Given the description of an element on the screen output the (x, y) to click on. 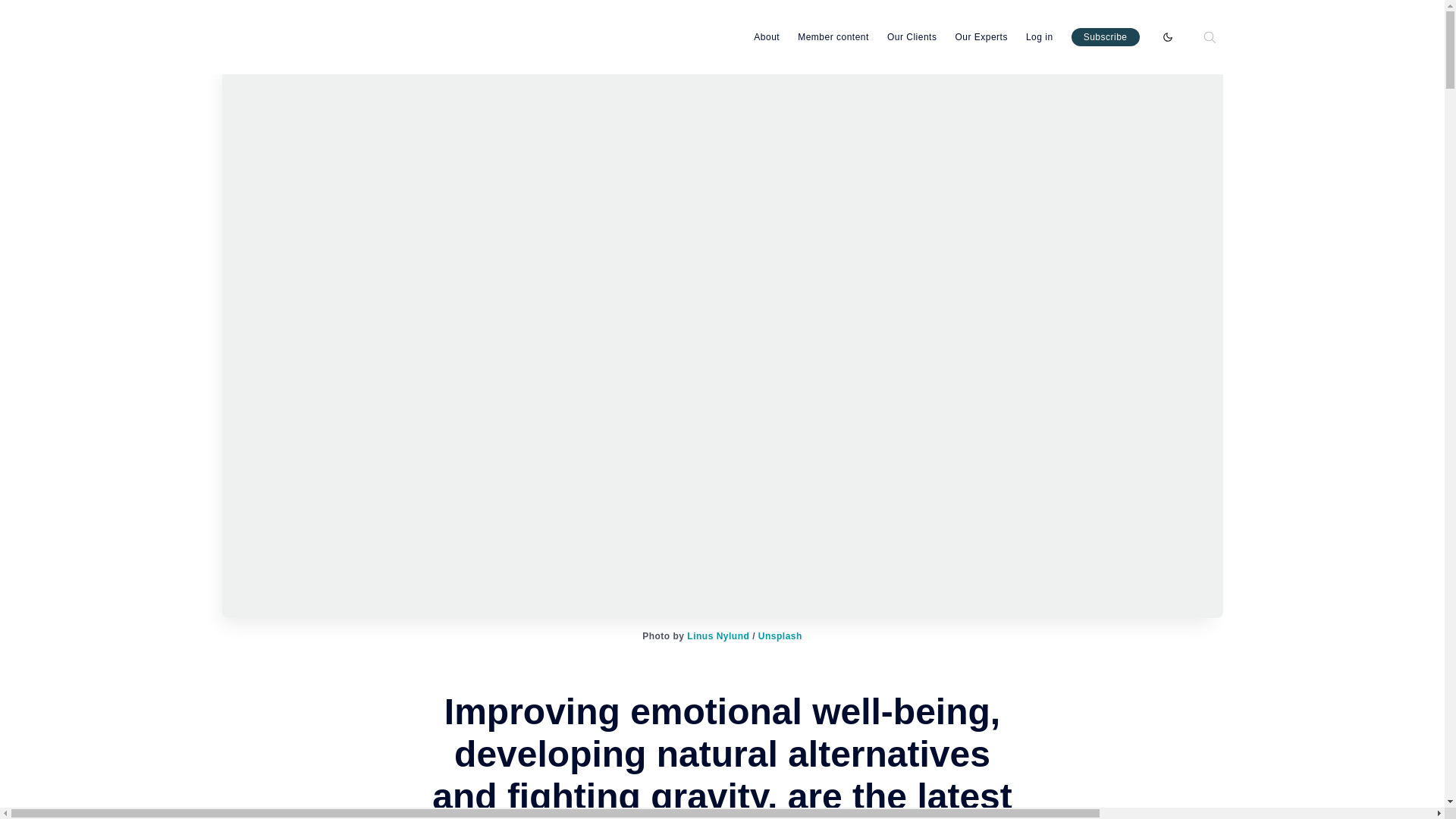
Member content (833, 37)
Linus Nylund (718, 635)
Our Clients (911, 37)
Our Experts (981, 37)
re-sources (259, 37)
Enable dark mode (1167, 36)
Unsplash (780, 635)
Enable dark mode (1167, 36)
About (766, 37)
Log in (1039, 37)
Subscribe (1105, 36)
